Given the description of an element on the screen output the (x, y) to click on. 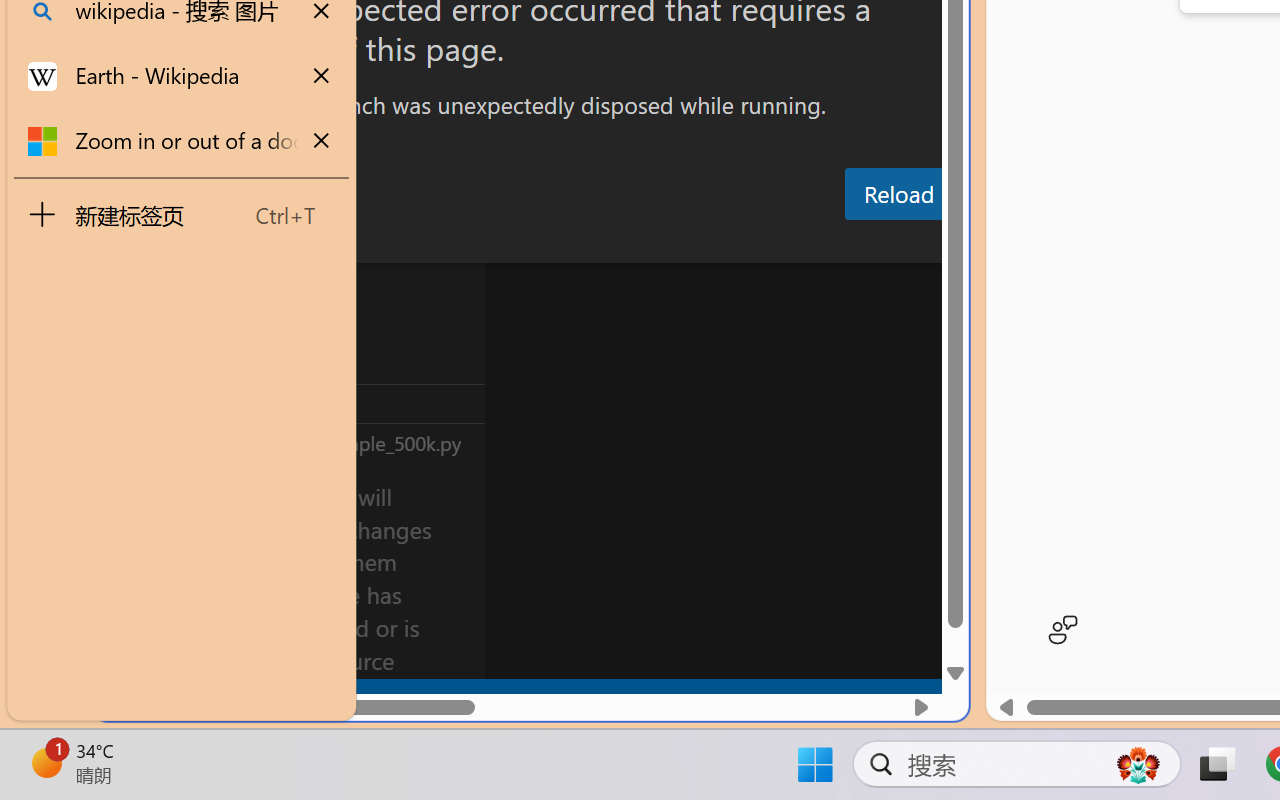
Reload (898, 193)
Manage (135, 591)
No Problems (212, 698)
Manage (135, 635)
Debug Console (Ctrl+Shift+Y) (854, 243)
Output (Ctrl+Shift+U) (696, 243)
Problems (Ctrl+Shift+M) (567, 243)
Terminal (Ctrl+`) (1021, 243)
